Given the description of an element on the screen output the (x, y) to click on. 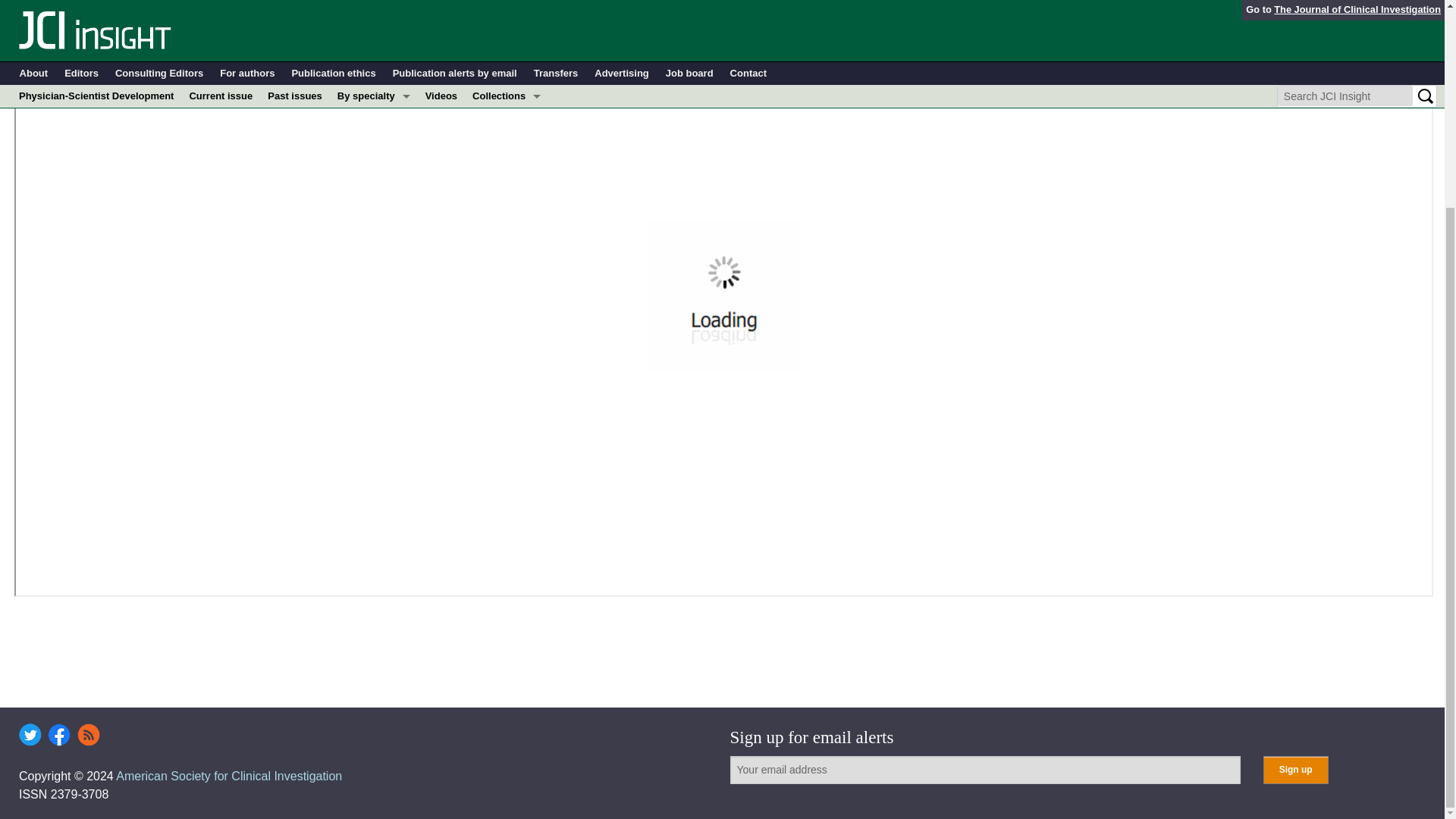
Top read articles (506, 11)
RSS (88, 734)
Twitter (30, 734)
Facebook (58, 734)
Sign up (1295, 769)
All ... (373, 11)
